Given the description of an element on the screen output the (x, y) to click on. 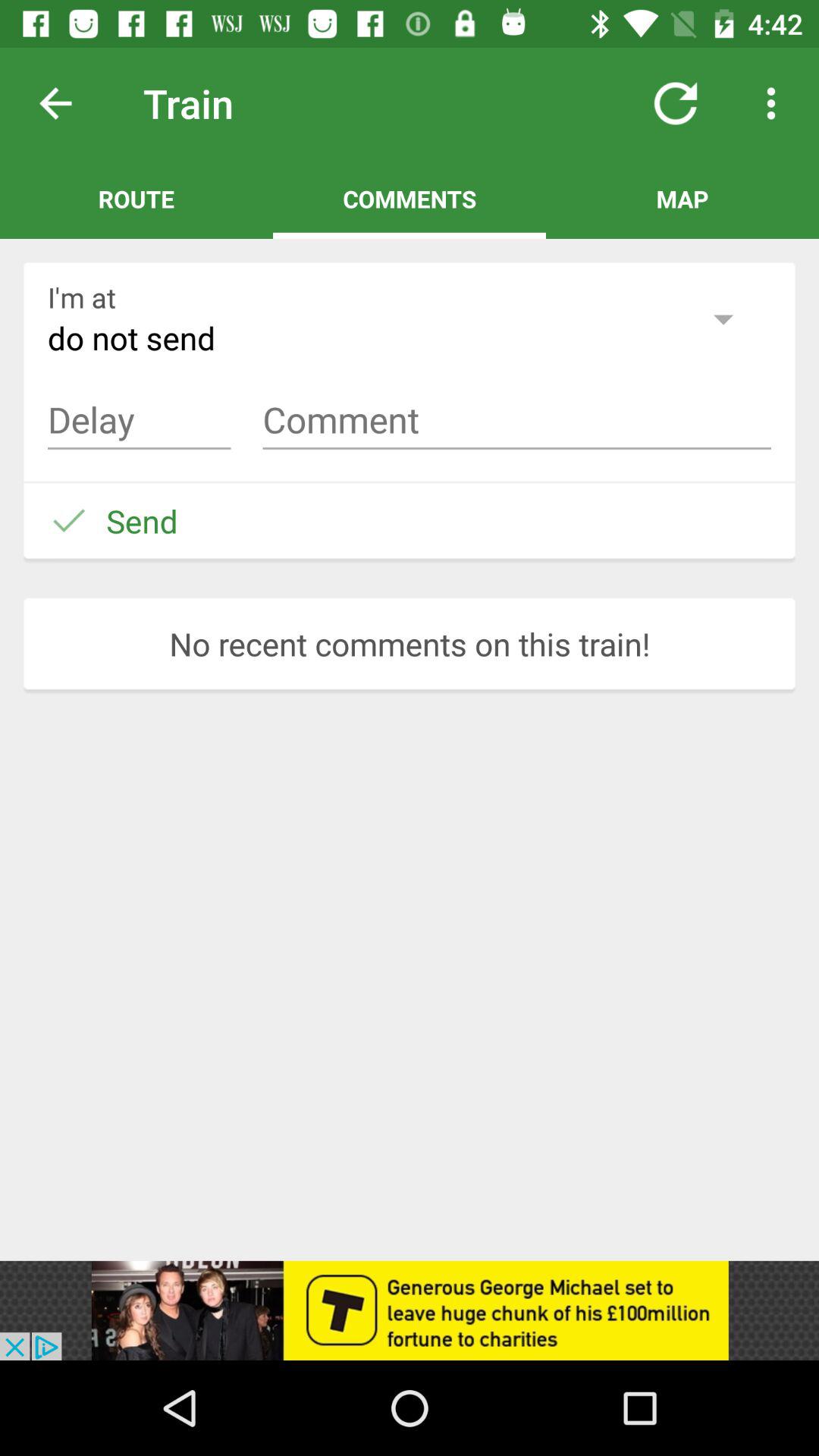
see advertisement (409, 1310)
